Given the description of an element on the screen output the (x, y) to click on. 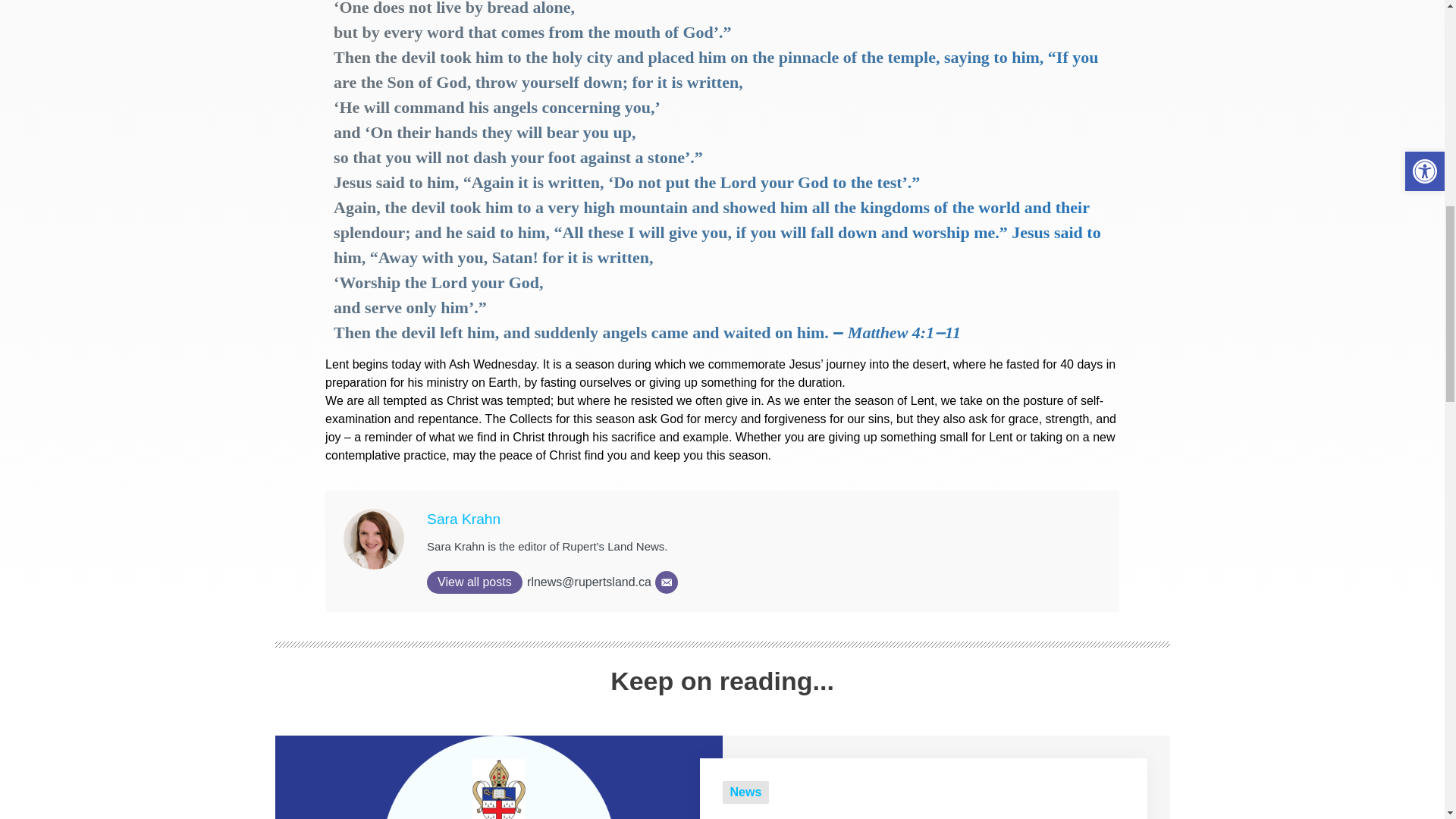
View all posts (474, 581)
Sara Krahn (463, 519)
